Given the description of an element on the screen output the (x, y) to click on. 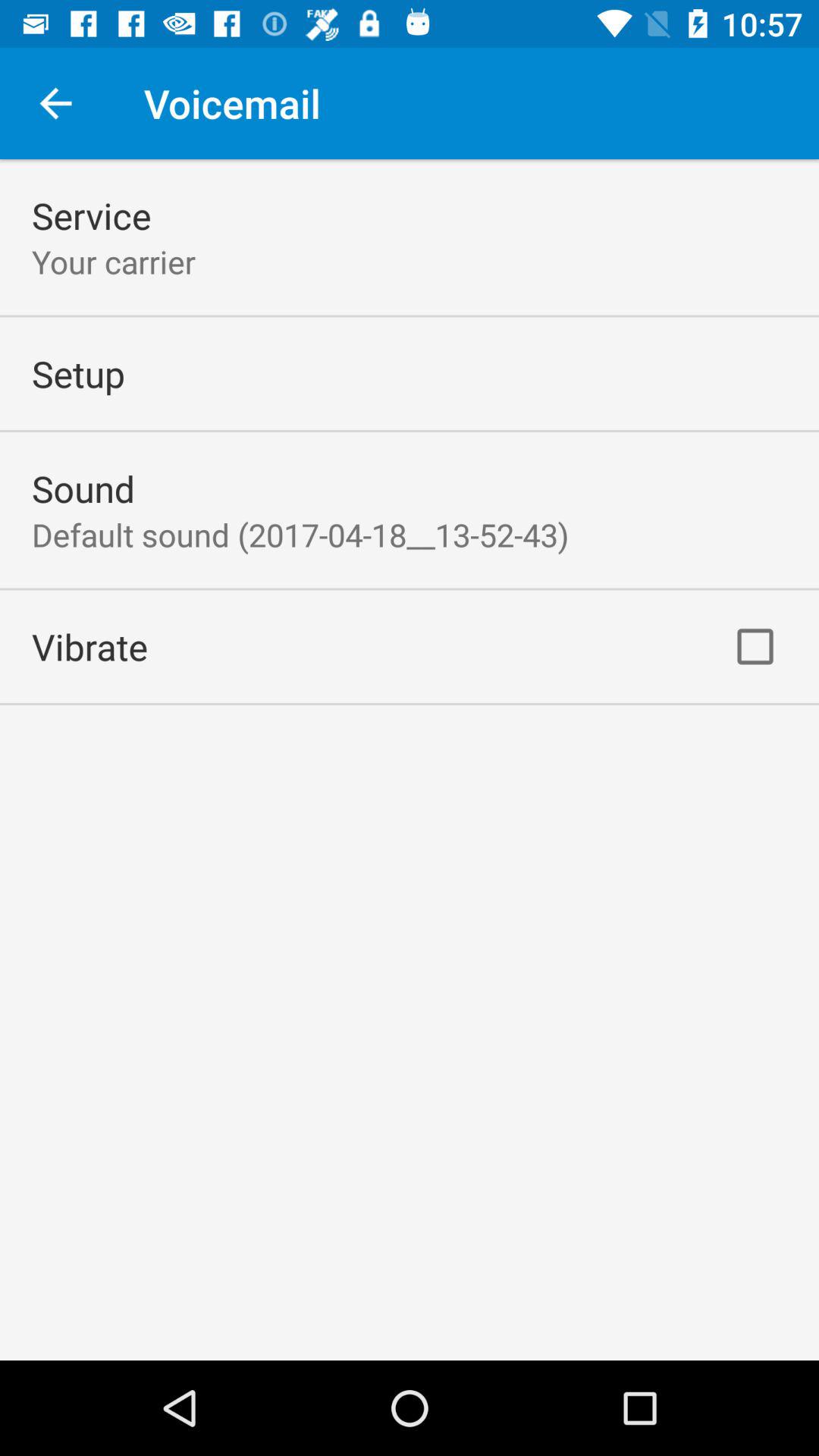
open the app below the your carrier app (78, 373)
